Given the description of an element on the screen output the (x, y) to click on. 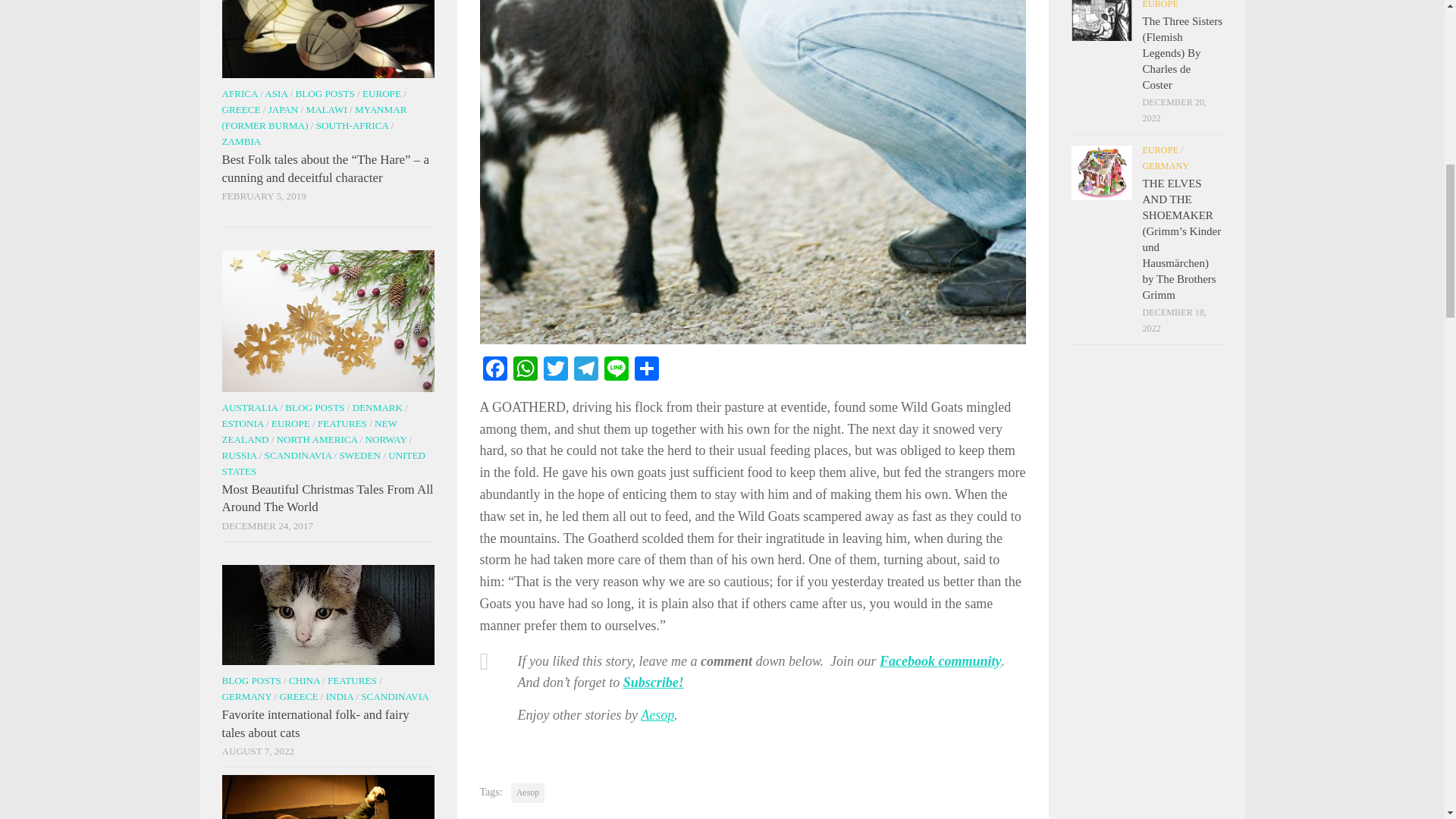
WhatsApp (524, 370)
Facebook (494, 370)
Telegram (584, 370)
Twitter (555, 370)
Line (614, 370)
